Given the description of an element on the screen output the (x, y) to click on. 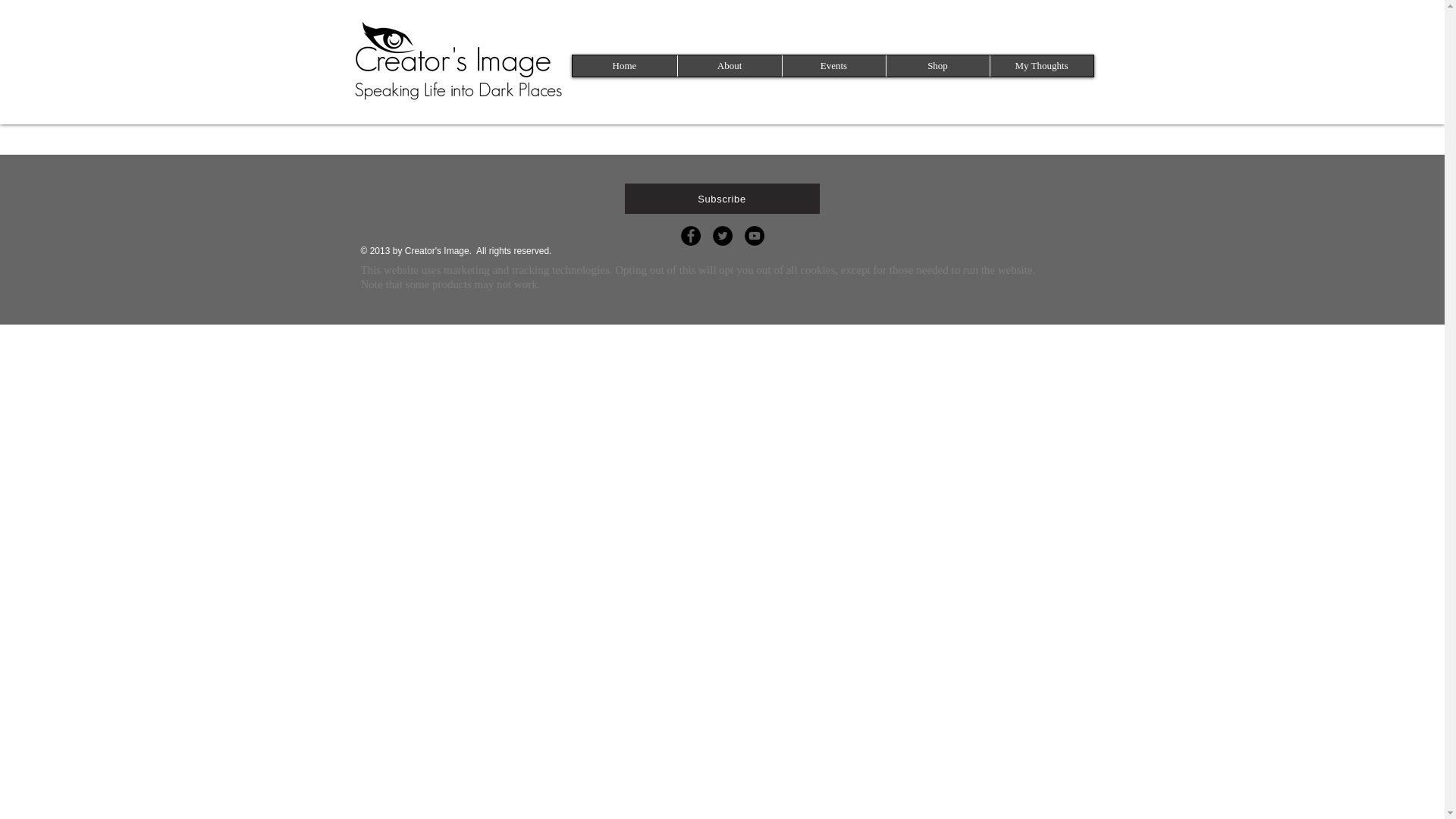
Facebook Like (1064, 90)
About (728, 65)
Subscribe (721, 198)
Home (624, 65)
